Given the description of an element on the screen output the (x, y) to click on. 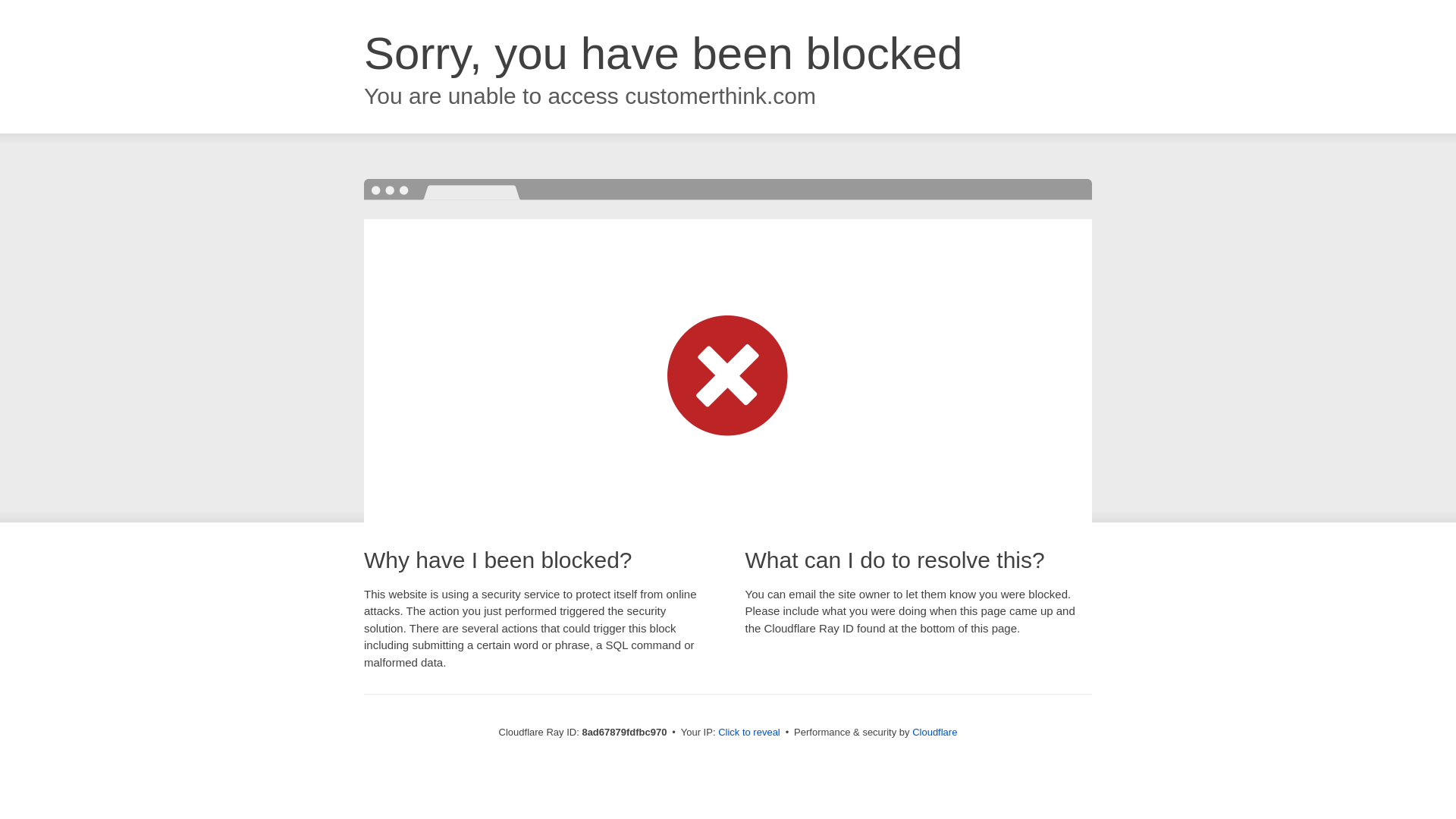
Cloudflare (934, 731)
Click to reveal (748, 732)
